Given the description of an element on the screen output the (x, y) to click on. 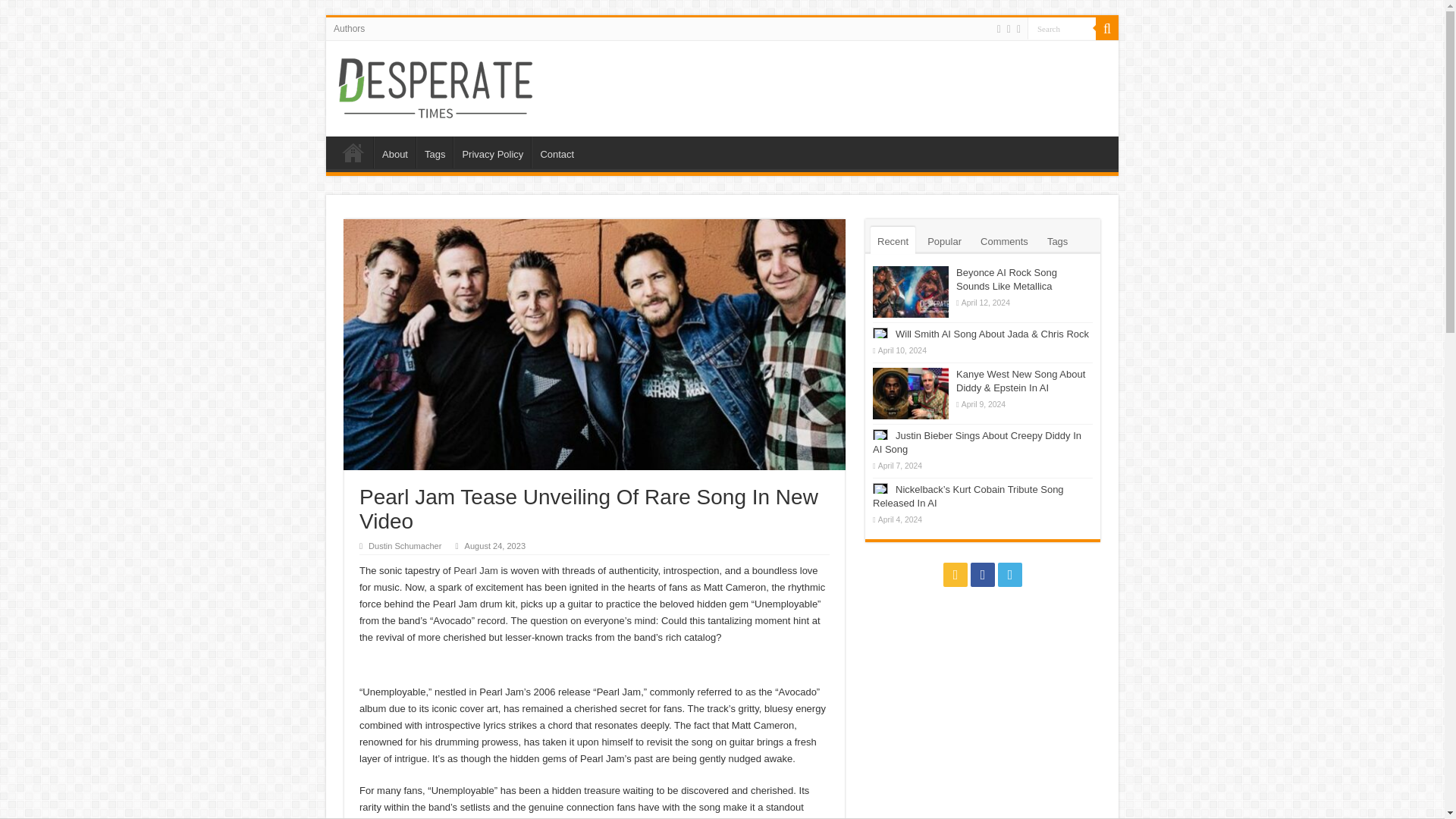
Recent (892, 239)
Comments (1004, 239)
Search (1061, 28)
Privacy Policy (491, 152)
Search (1107, 28)
Tags (1057, 239)
Beyonce AI Rock Song Sounds Like Metallica (1006, 278)
Dustin Schumacher (404, 545)
Contact (555, 152)
Tags (434, 152)
Authors (349, 28)
Search (1061, 28)
Popular (944, 239)
Pearl Jam (474, 570)
